Given the description of an element on the screen output the (x, y) to click on. 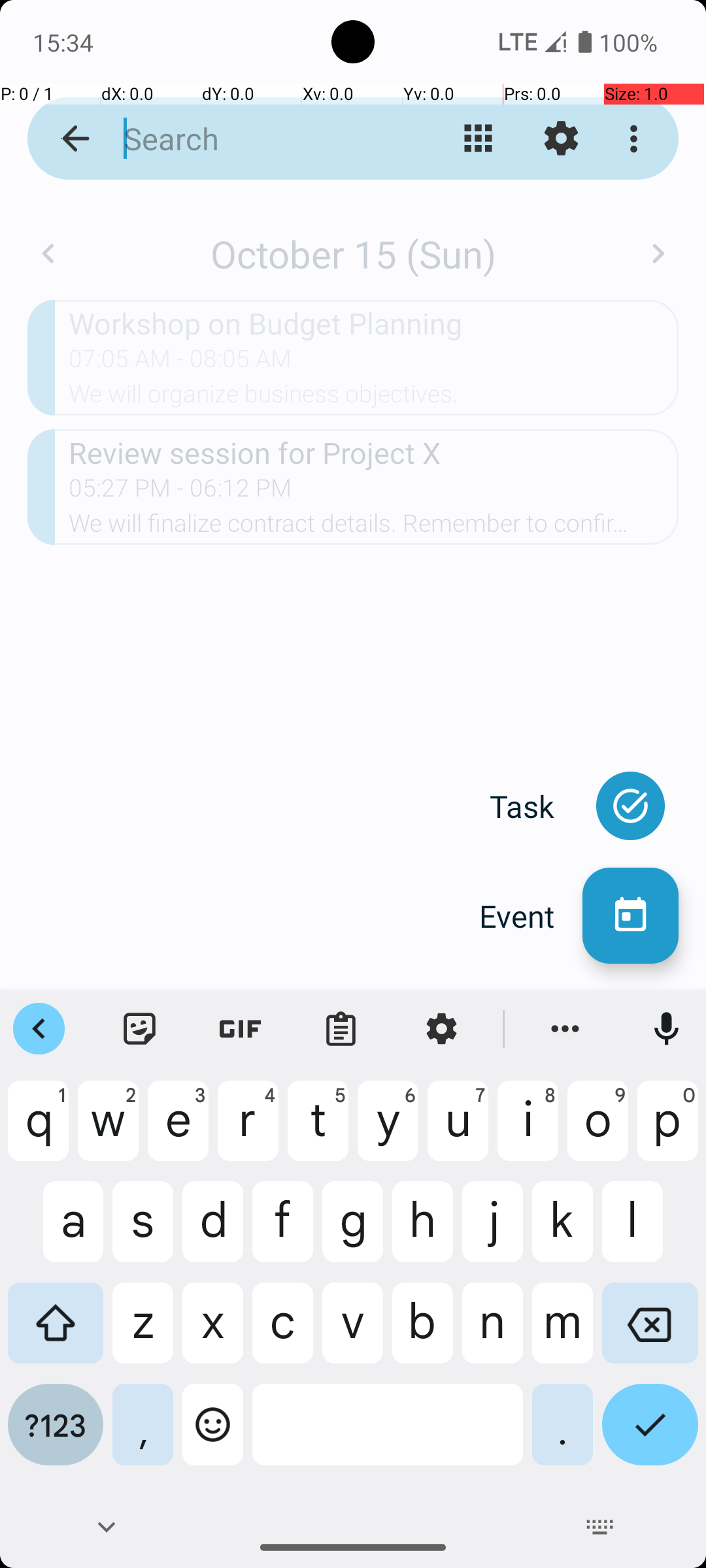
07:05 AM - 08:05 AM Element type: android.widget.TextView (179, 362)
We will organize business objectives. Element type: android.widget.TextView (373, 397)
05:27 PM - 06:12 PM Element type: android.widget.TextView (179, 491)
We will finalize contract details. Remember to confirm attendance. Element type: android.widget.TextView (373, 526)
